Given the description of an element on the screen output the (x, y) to click on. 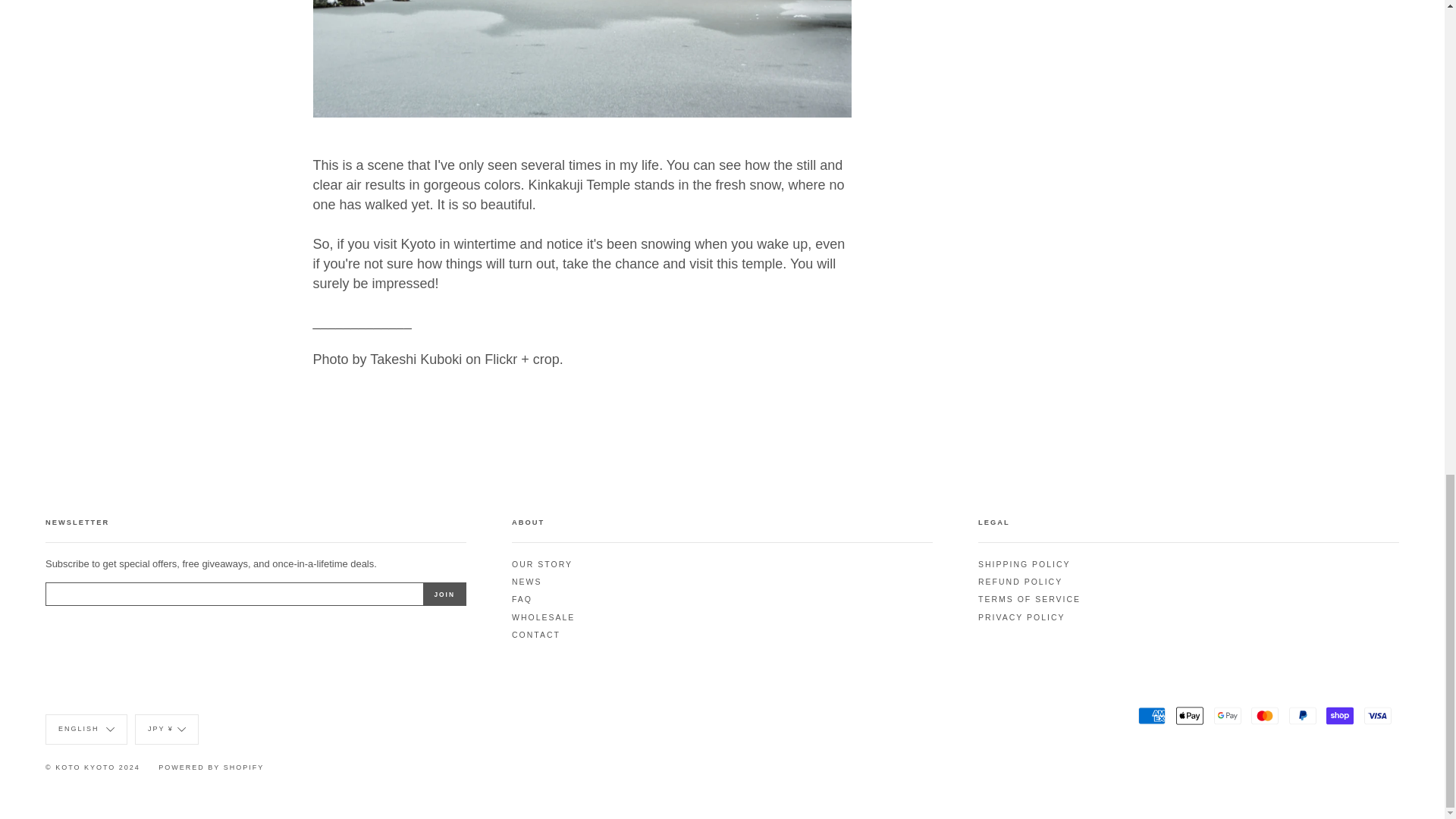
Mastercard (1264, 715)
PayPal (1302, 715)
Visa (1377, 715)
Shop Pay (1340, 715)
American Express (1152, 715)
Apple Pay (1190, 715)
Google Pay (1227, 715)
Join (444, 594)
